Given the description of an element on the screen output the (x, y) to click on. 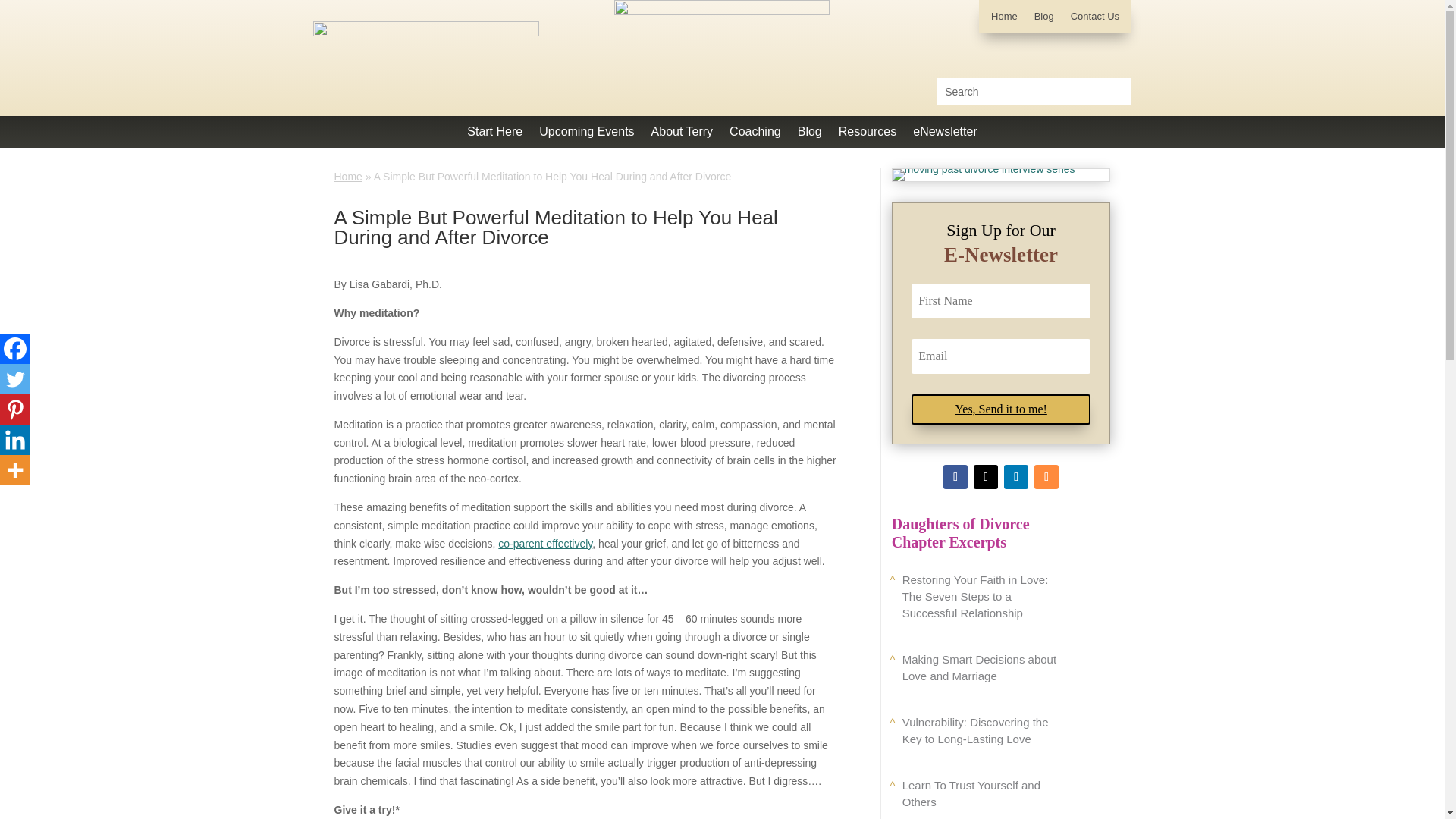
Blog (1043, 19)
Follow on RSS (1045, 476)
Upcoming Events (585, 134)
Making Smart Decisions about Love and Marriage (979, 667)
headerLogo (425, 58)
More (15, 470)
Home (347, 176)
Start Here (494, 134)
Twitter (15, 378)
Coaching (754, 134)
Contact Us (1094, 19)
Resources (867, 134)
Follow on X (985, 476)
About Terry (681, 134)
Follow on Facebook (955, 476)
